Given the description of an element on the screen output the (x, y) to click on. 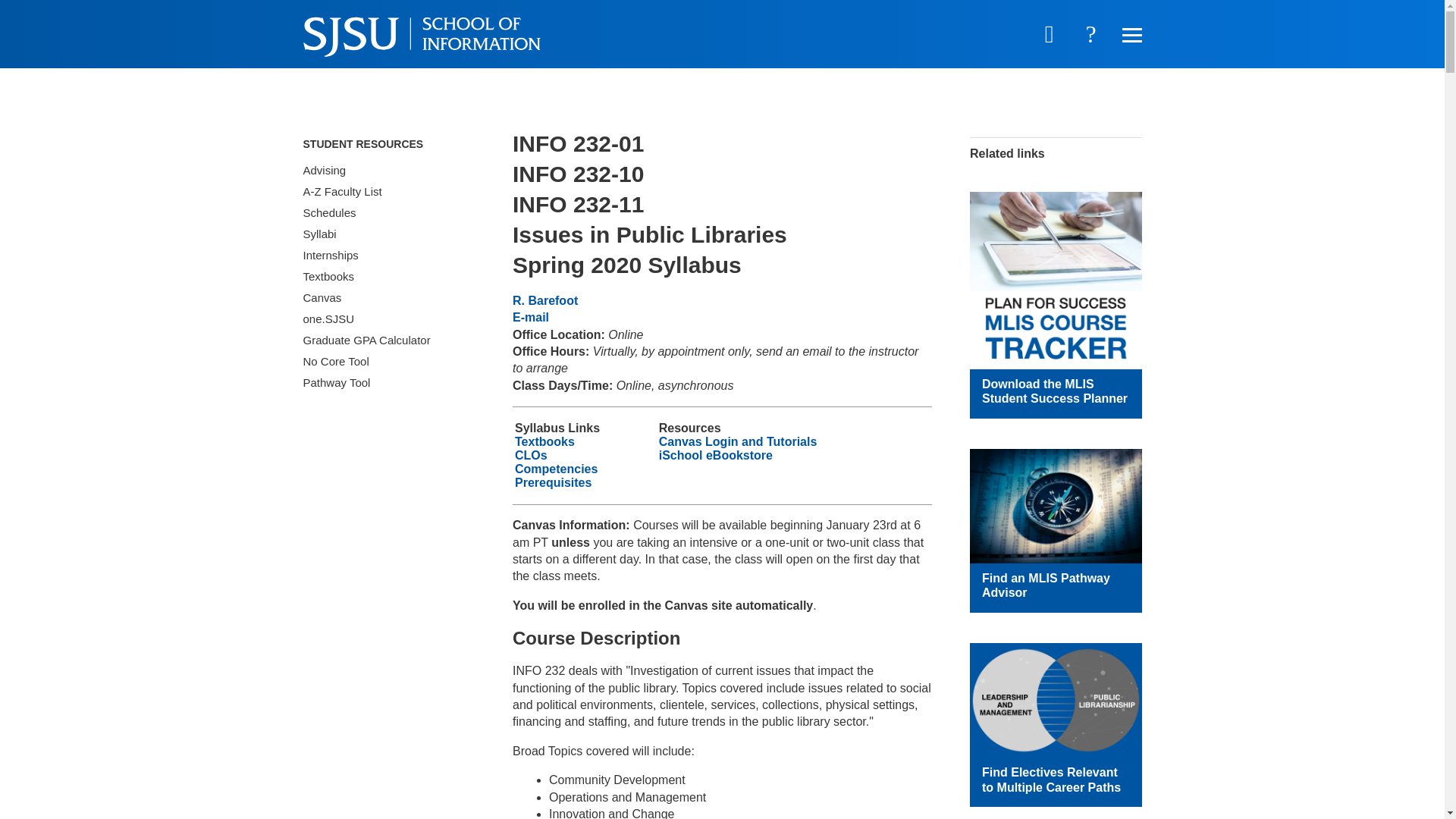
Syllabi (389, 233)
A-Z Faculty List (389, 191)
Pathway Tool (389, 382)
Canvas Login and Tutorials (737, 440)
Find Syllabi (389, 233)
Download the MLIS Student Success Planner (1053, 390)
E-mail (530, 317)
STUDENT RESOURCES (389, 143)
Student Resources (389, 143)
Graduate GPA Calculator (389, 340)
No Core Tool (389, 361)
iSchool eBookstore (716, 454)
Search Electives Relevant to Multiple Career Paths (1055, 699)
Find an MLIS Pathway Advisor (1055, 505)
R. Barefoot (545, 300)
